Given the description of an element on the screen output the (x, y) to click on. 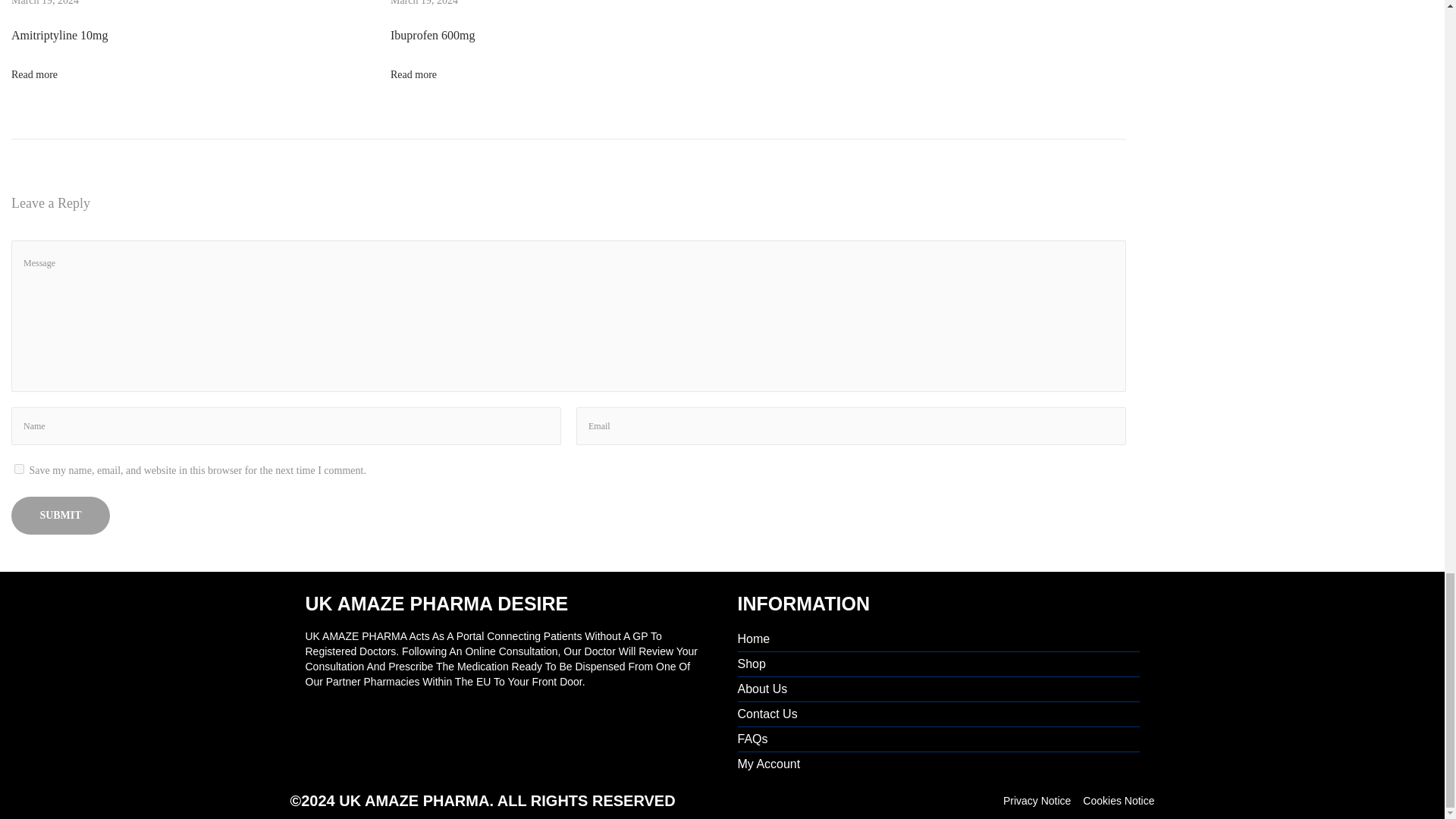
Amitriptyline 10mg (59, 34)
Read more (34, 74)
Submit (60, 515)
yes (19, 469)
